Given the description of an element on the screen output the (x, y) to click on. 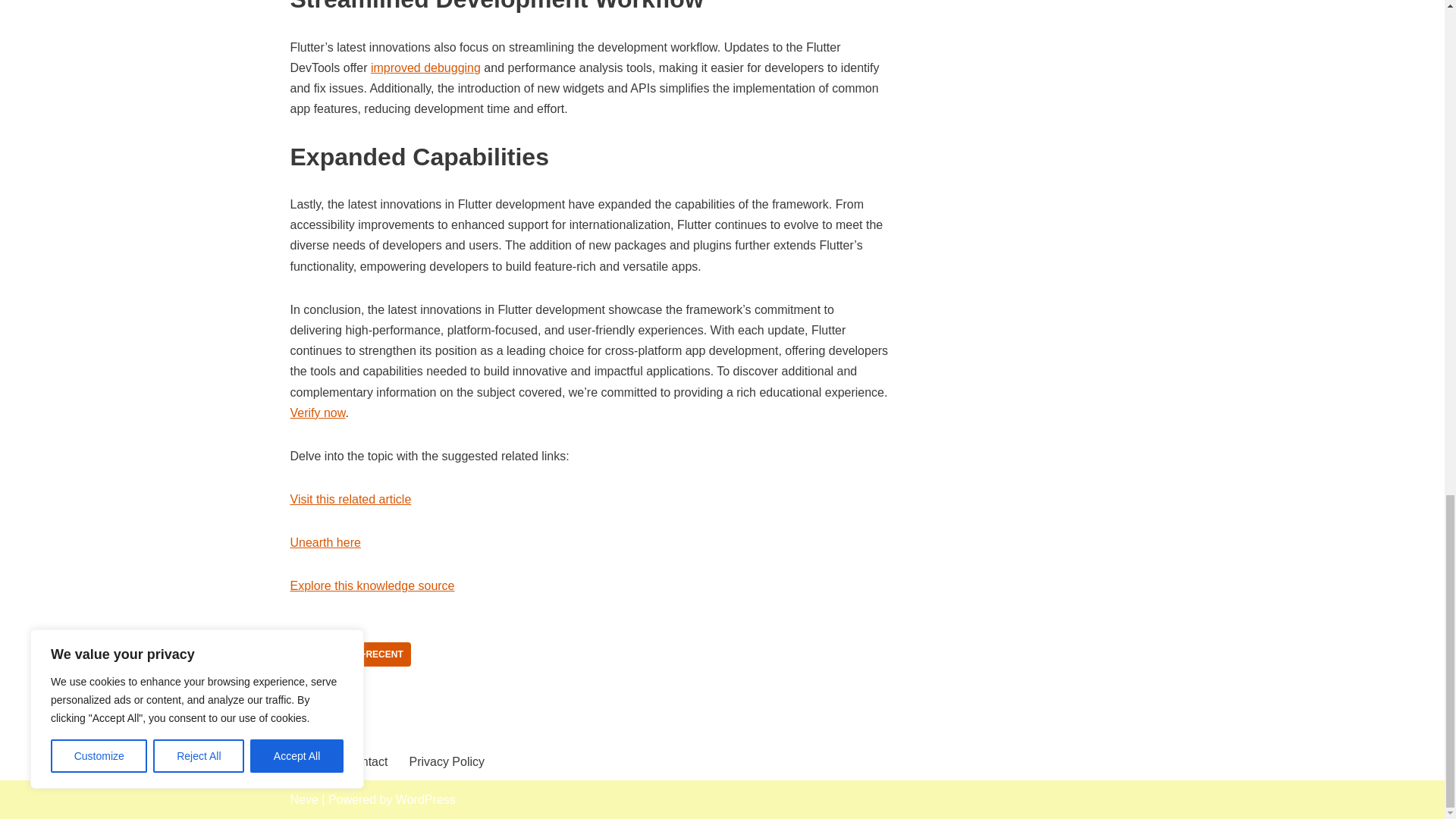
Explore this knowledge source (371, 585)
improved debugging (425, 67)
Verify now (317, 412)
Visit this related article (349, 499)
Unearth here (324, 542)
